Given the description of an element on the screen output the (x, y) to click on. 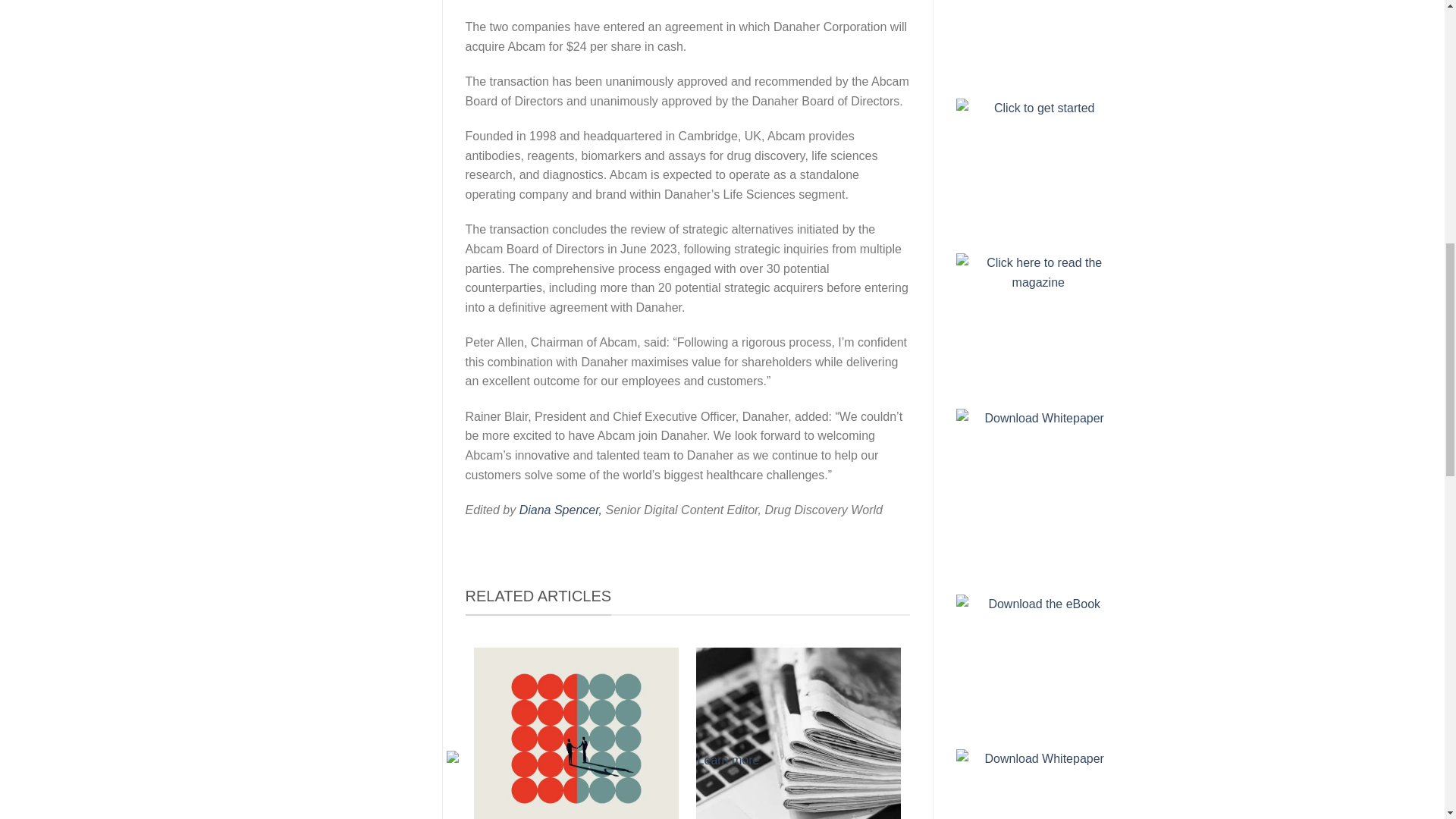
Learn more (1038, 40)
Download Whitepaper (1038, 784)
Click to get started (1038, 166)
Download the eBook (1038, 662)
Download Whitepaper (1038, 477)
Click here to read the magazine (1038, 321)
